Given the description of an element on the screen output the (x, y) to click on. 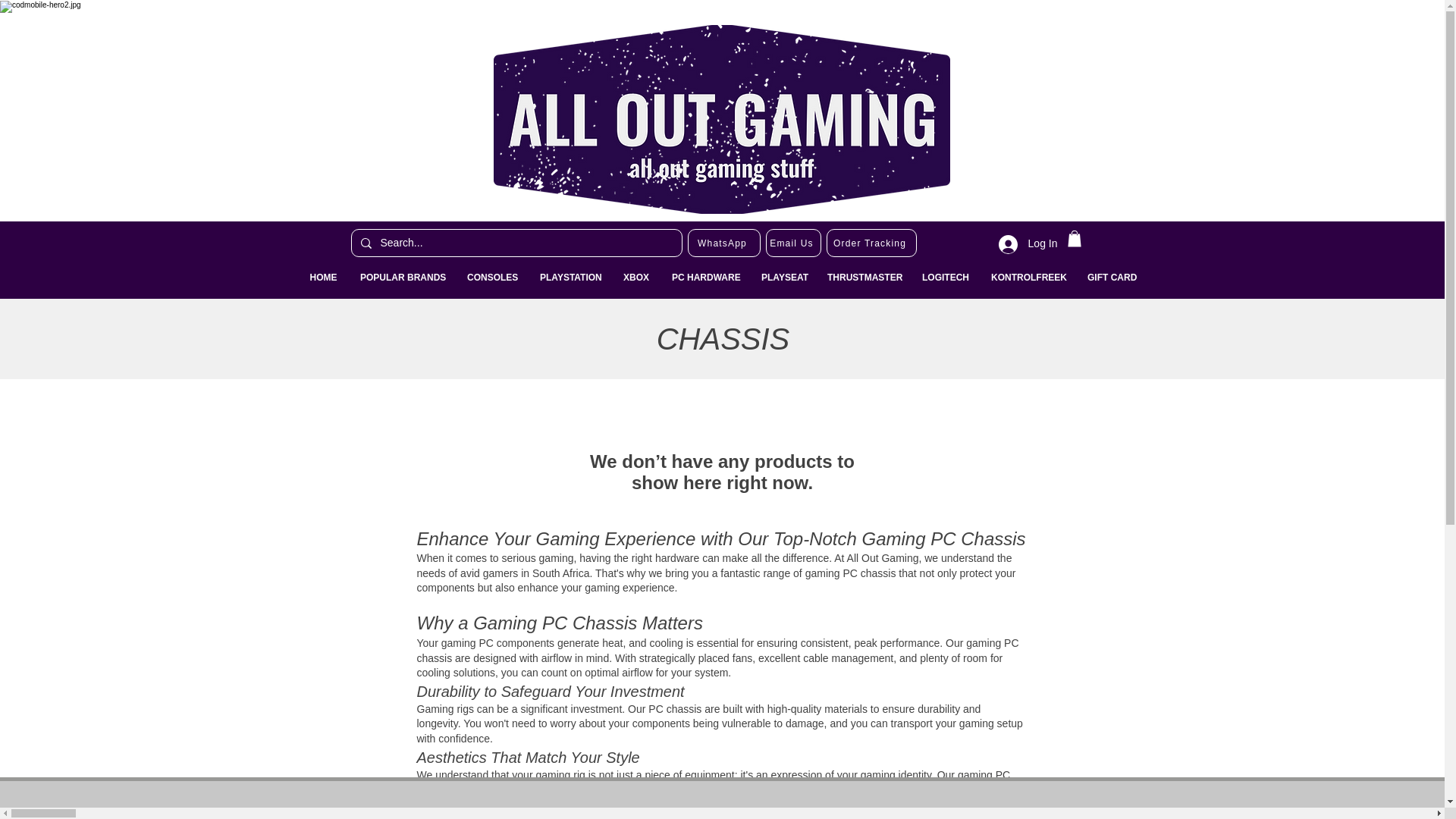
Email Us (793, 243)
CONSOLES (491, 277)
PLAYSTATION (569, 277)
Log In (1028, 244)
XBOX (636, 277)
WhatsApp (723, 243)
THRUSTMASTER (863, 277)
GIFT CARD (1111, 277)
HOME (323, 277)
Order Tracking (872, 243)
